Given the description of an element on the screen output the (x, y) to click on. 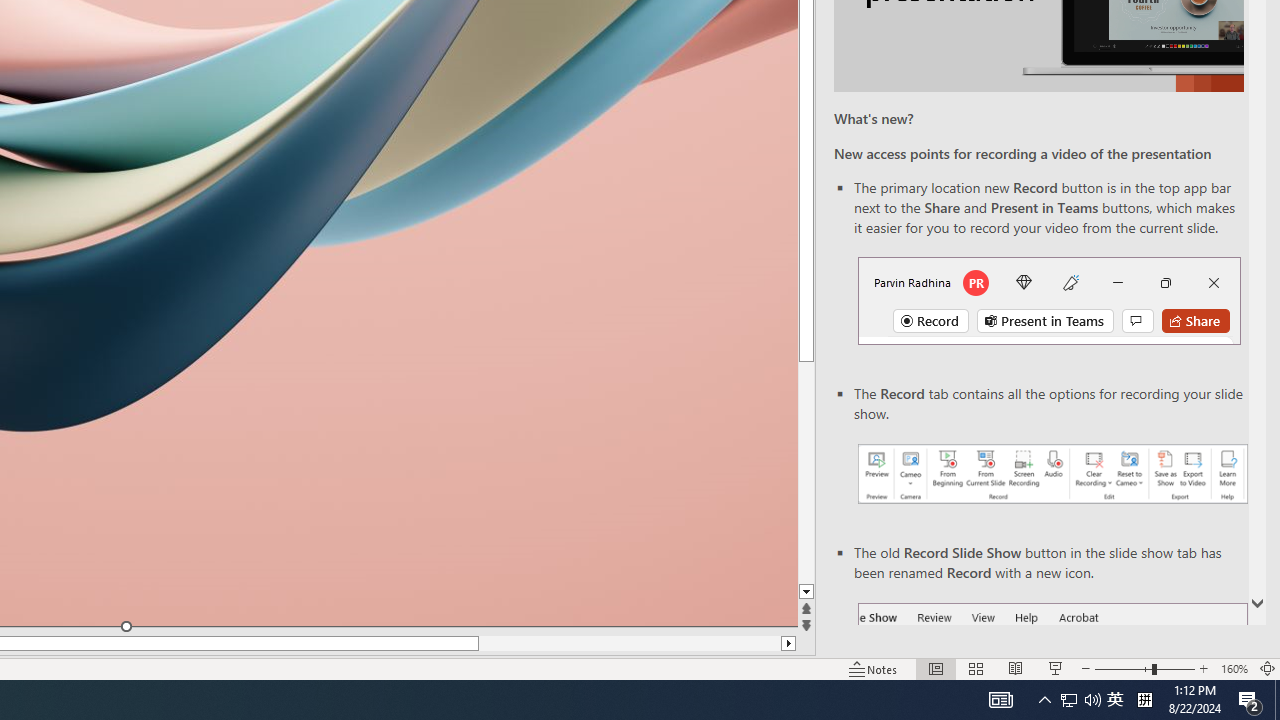
Record button in top bar (1049, 300)
